Given the description of an element on the screen output the (x, y) to click on. 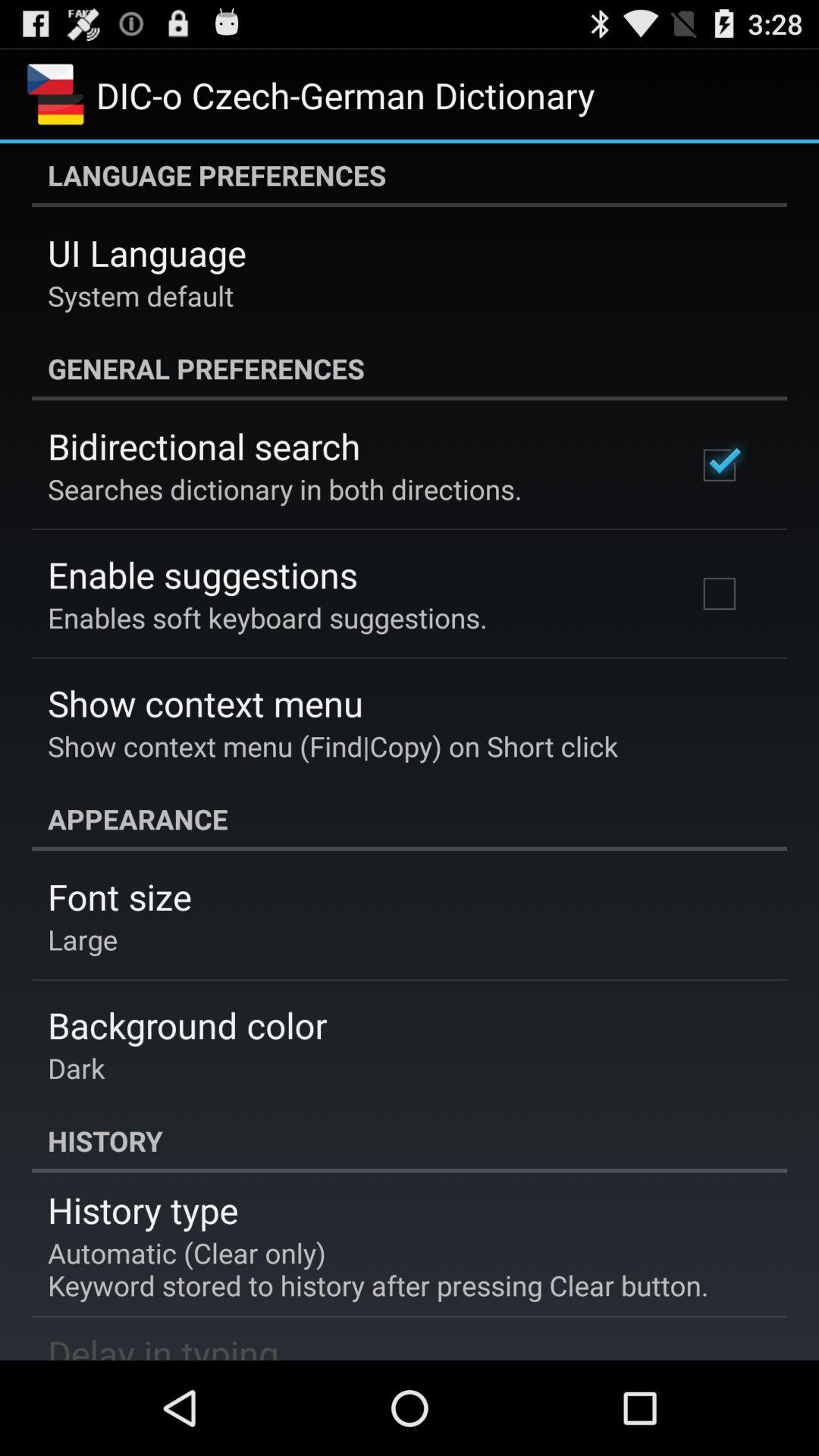
press app below the show context menu app (409, 818)
